Given the description of an element on the screen output the (x, y) to click on. 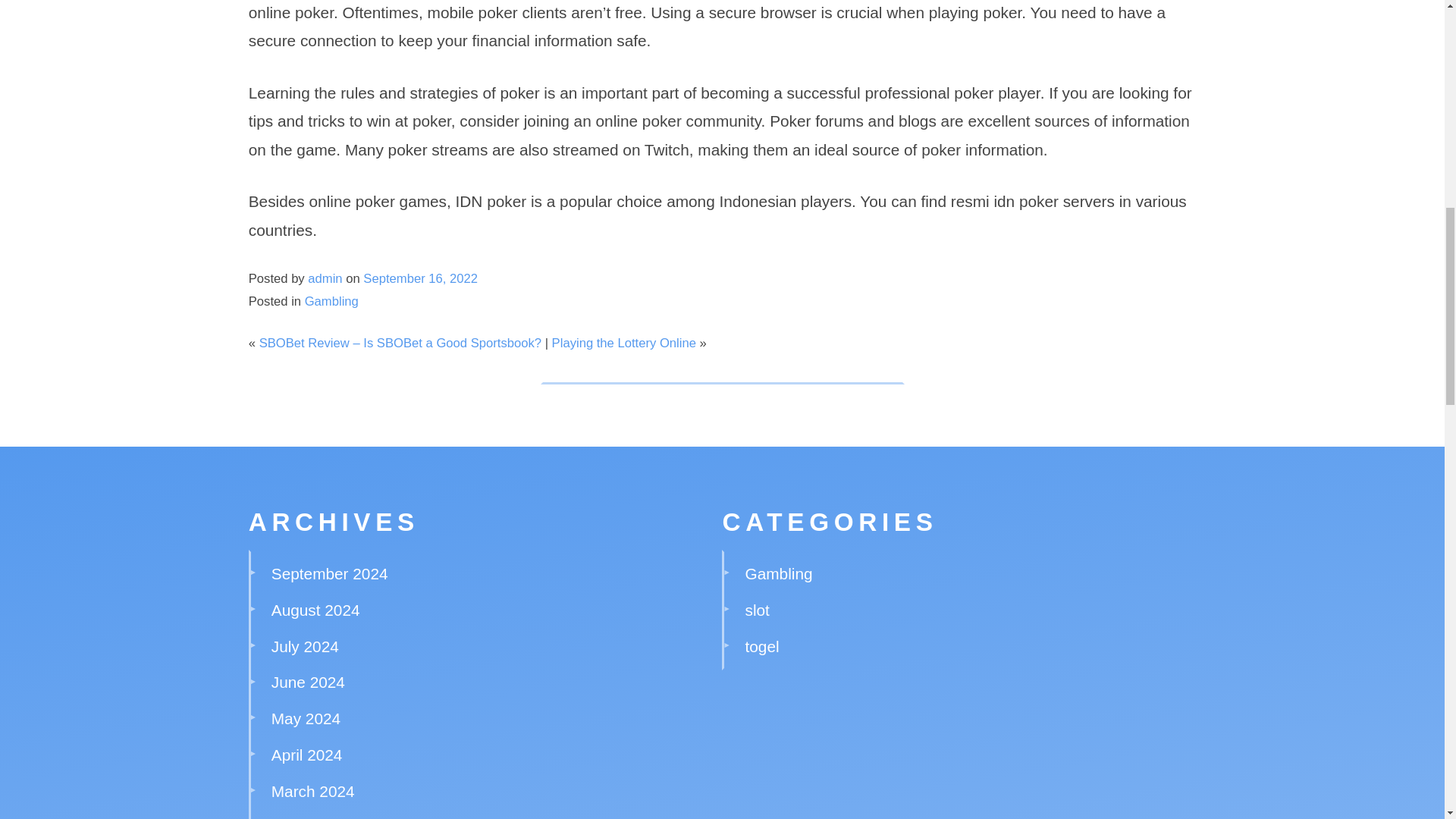
Playing the Lottery Online (623, 342)
August 2024 (314, 610)
March 2024 (312, 791)
April 2024 (306, 754)
September 2024 (329, 573)
Gambling (331, 301)
admin (324, 278)
June 2024 (307, 682)
July 2024 (304, 646)
May 2024 (305, 718)
